Given the description of an element on the screen output the (x, y) to click on. 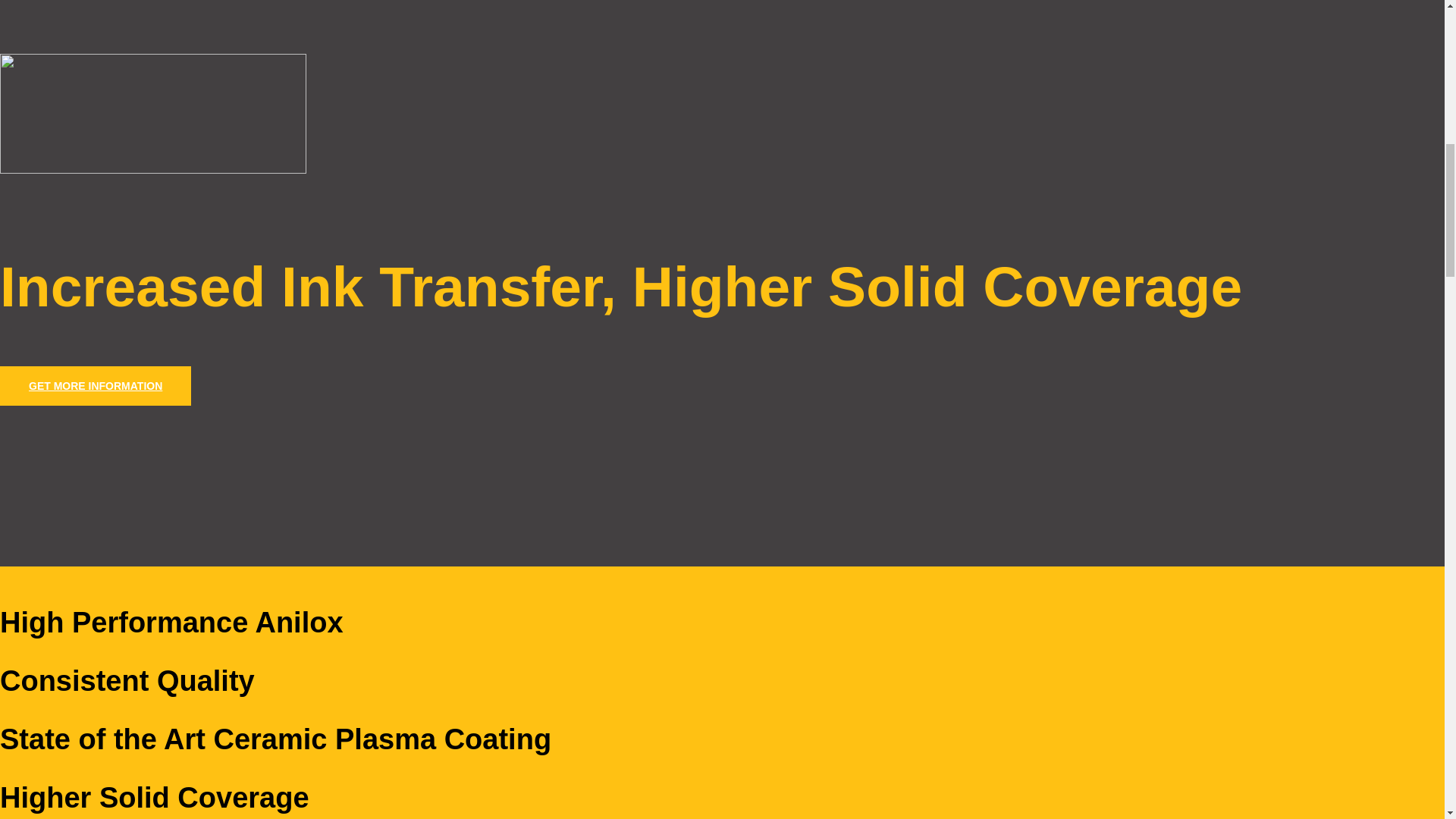
eflo-logo - Pamarco (152, 113)
3D EFlo - Pamarco (14, 373)
